Given the description of an element on the screen output the (x, y) to click on. 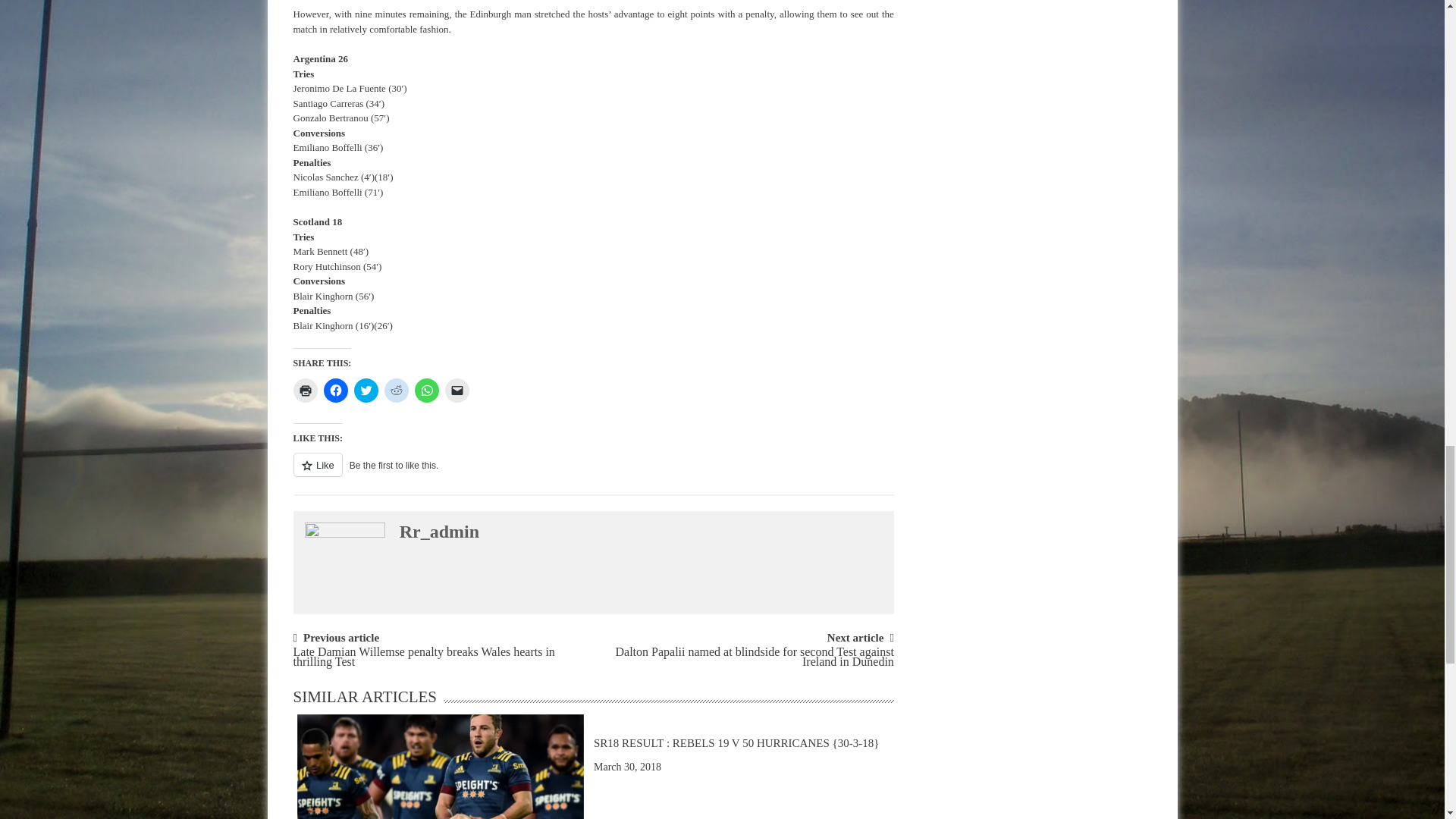
Click to share on WhatsApp (425, 390)
Click to print (304, 390)
Click to share on Facebook (335, 390)
TEAM PREVIEW: THE HIGHLANDERS (440, 791)
Like or Reblog (592, 473)
Click to share on Twitter (365, 390)
Click to share on Reddit (395, 390)
Click to email a link to a friend (456, 390)
TEAM PREVIEW: THE HIGHLANDERS (440, 766)
March 30, 2018 (627, 767)
